Given the description of an element on the screen output the (x, y) to click on. 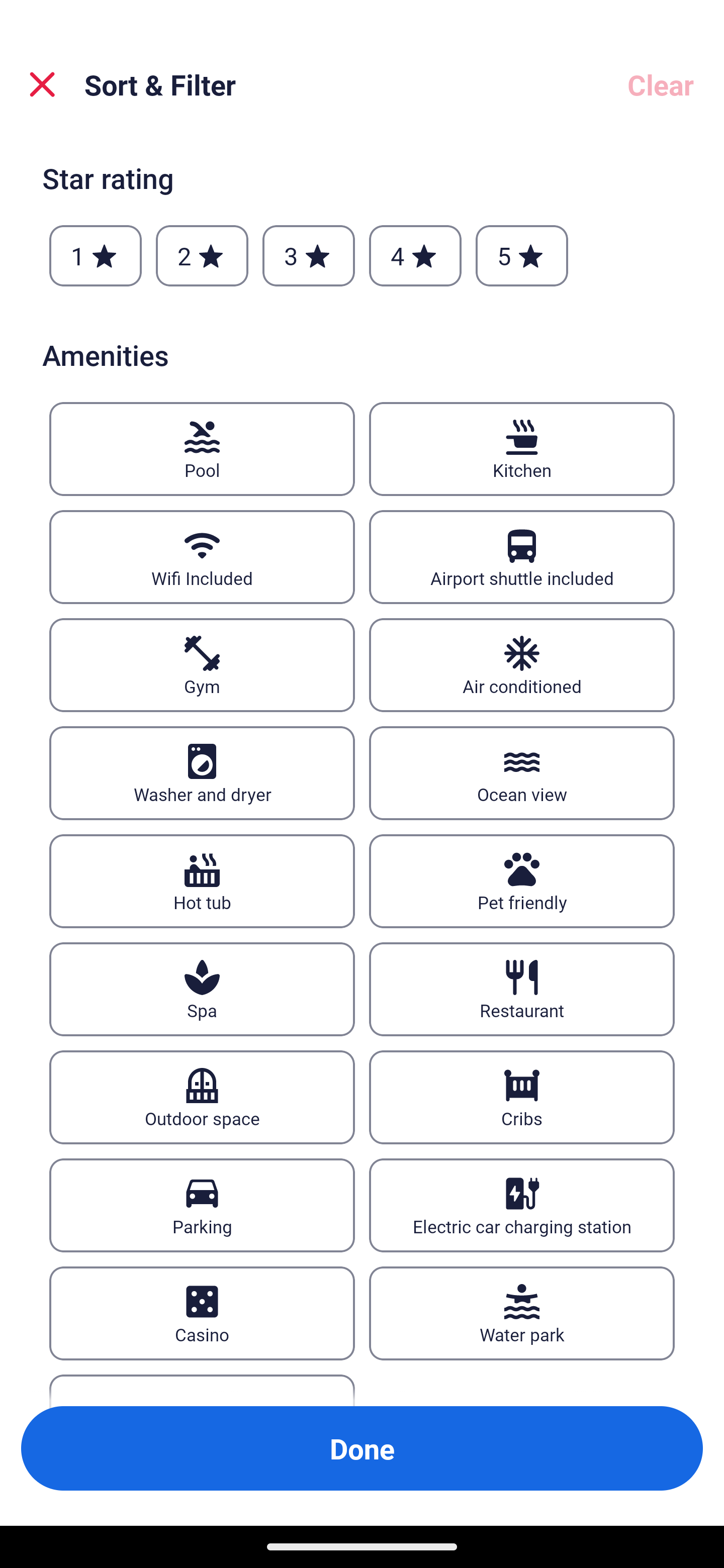
Close Sort and Filter (42, 84)
Clear (660, 84)
1 (95, 255)
2 (201, 255)
3 (308, 255)
4 (415, 255)
5 (521, 255)
Pool (201, 448)
Kitchen (521, 448)
Wifi Included (201, 556)
Airport shuttle included (521, 556)
Gym (201, 664)
Air conditioned (521, 664)
Washer and dryer (201, 772)
Ocean view (521, 772)
Hot tub (201, 881)
Pet friendly (521, 881)
Spa (201, 989)
Restaurant (521, 989)
Outdoor space (201, 1097)
Cribs (521, 1097)
Parking (201, 1205)
Electric car charging station (521, 1205)
Casino (201, 1313)
Water park (521, 1313)
Apply and close Sort and Filter Done (361, 1448)
